Given the description of an element on the screen output the (x, y) to click on. 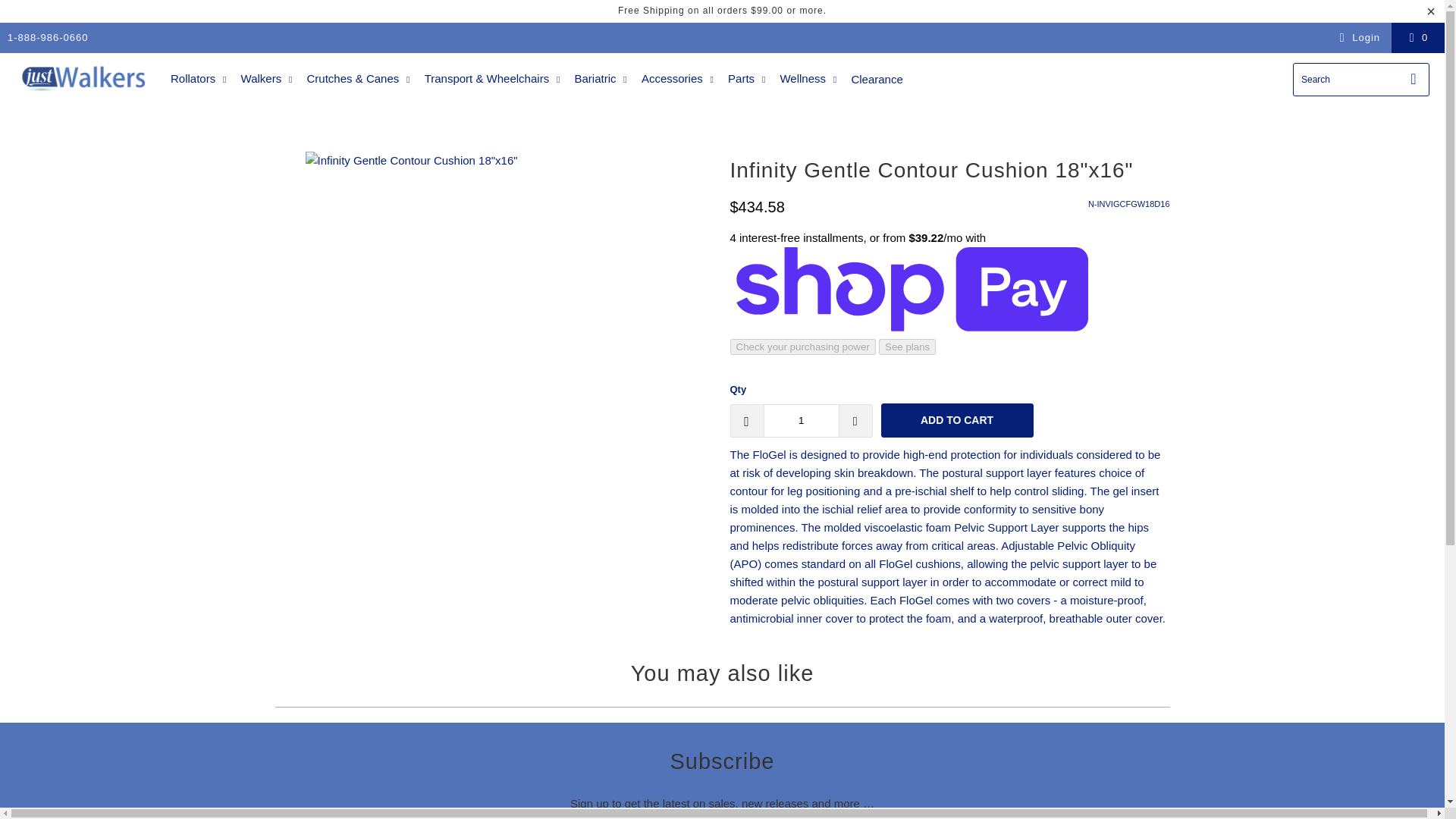
1 (800, 420)
My Account  (1357, 37)
Just Walkers (84, 78)
